Given the description of an element on the screen output the (x, y) to click on. 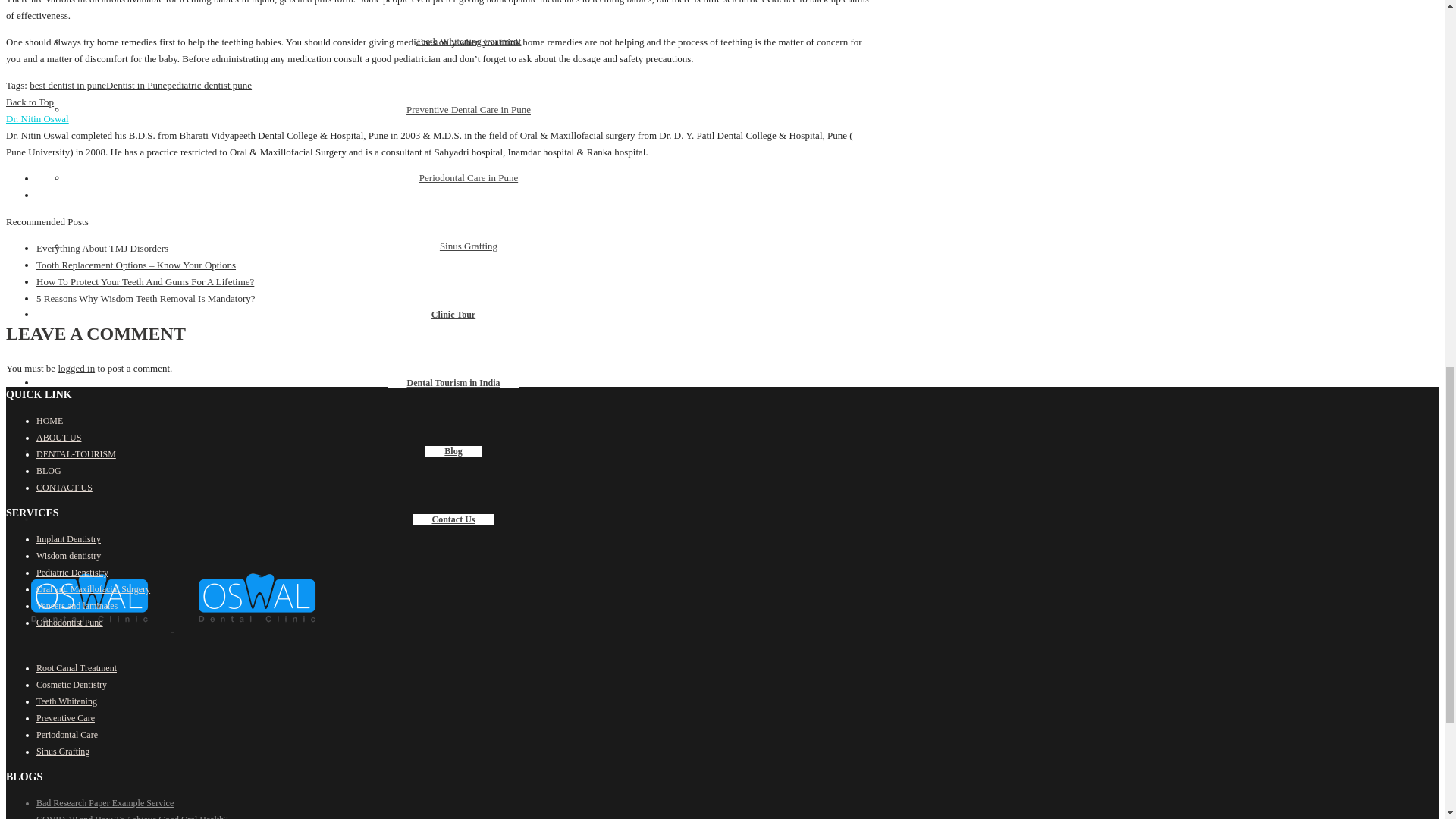
Dental Tourism in India (452, 382)
Contact Us (452, 519)
Preventive Dental Care in Pune (468, 109)
Teeth Whitening treatment (468, 41)
Sinus Grafting (468, 245)
Periodontal Care in Pune (468, 177)
Clinic Tour (453, 314)
Oswal Dental Clinic (172, 627)
Blog (452, 450)
